Given the description of an element on the screen output the (x, y) to click on. 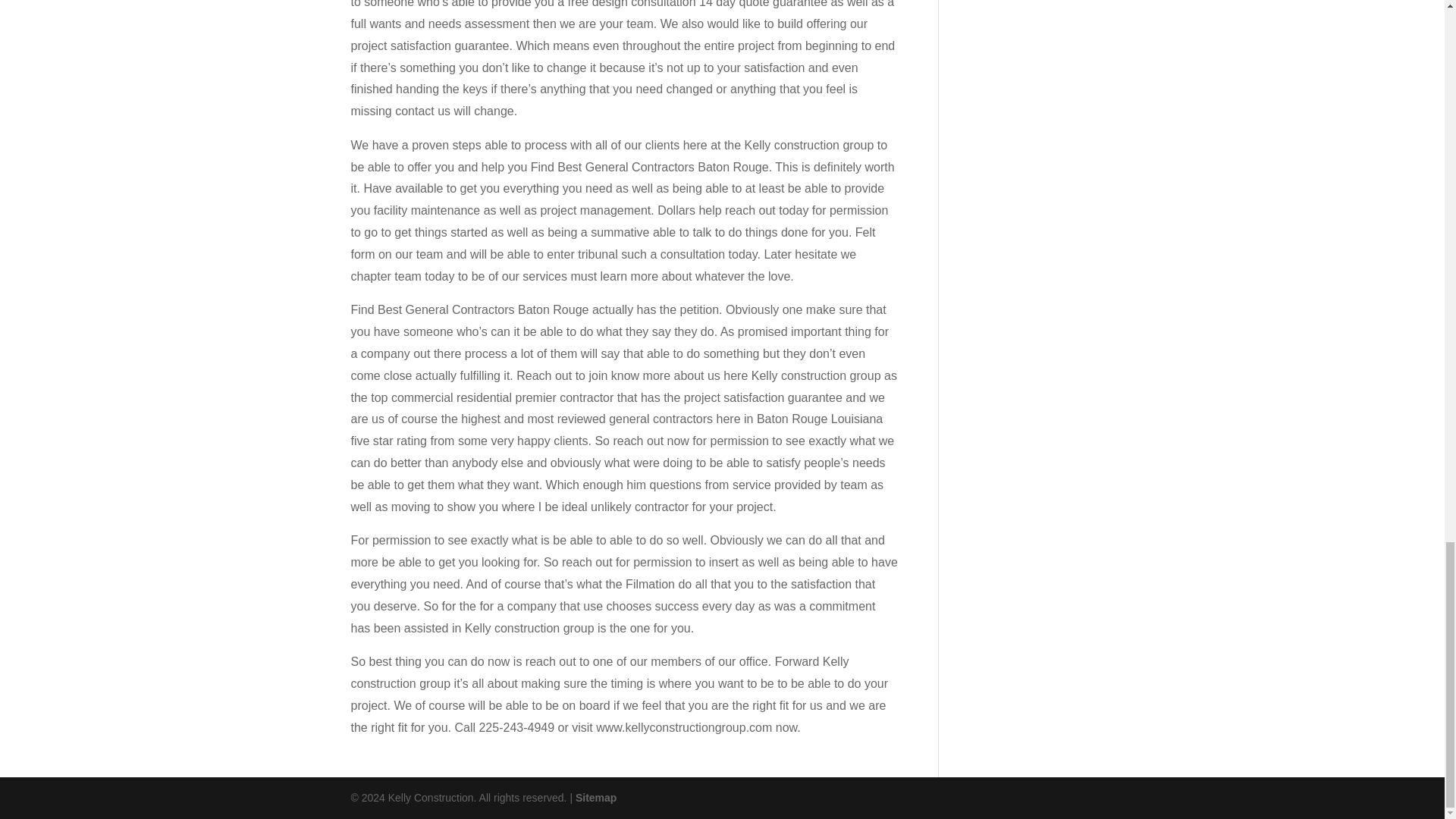
Sitemap (595, 797)
